Given the description of an element on the screen output the (x, y) to click on. 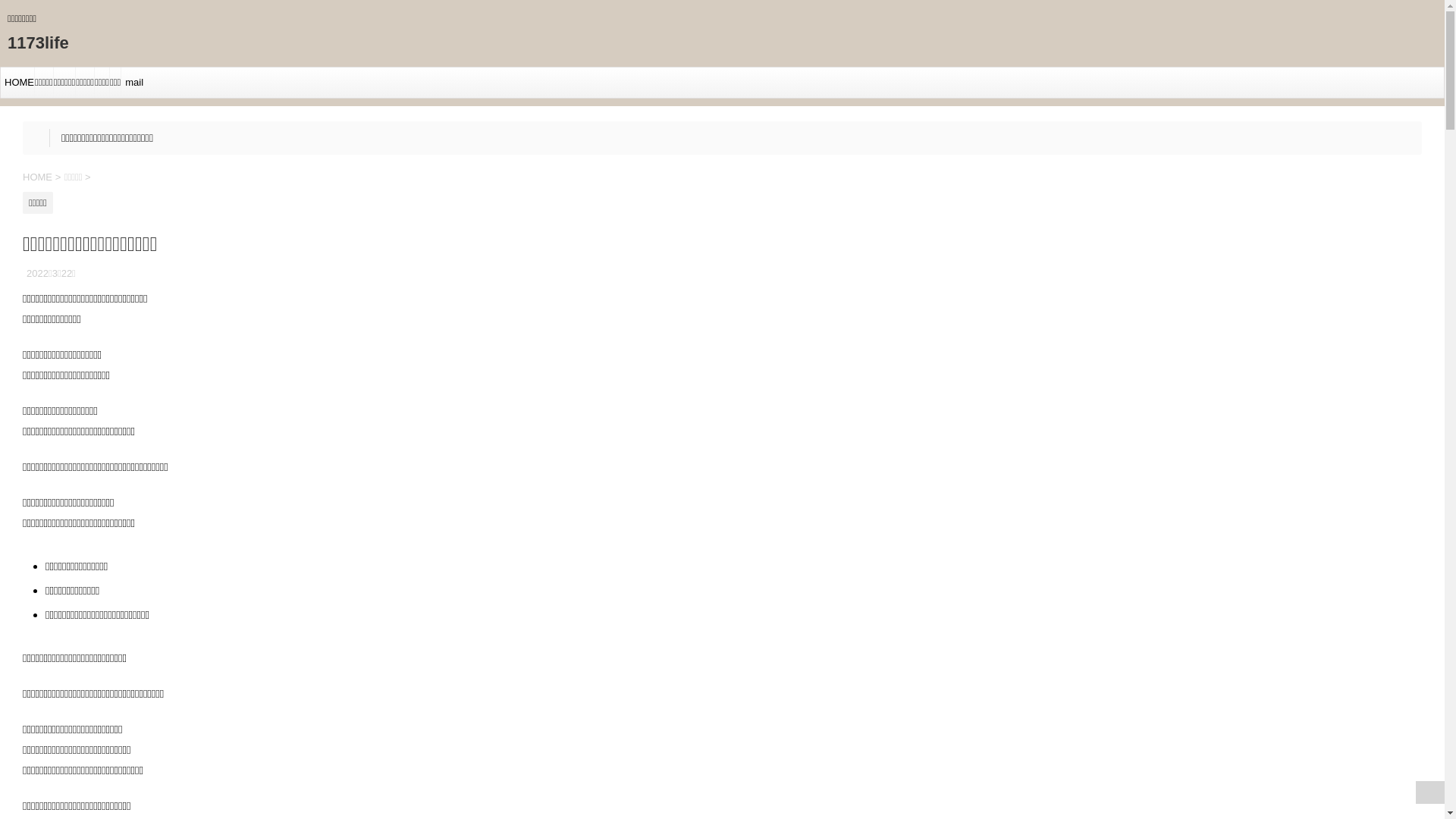
mail Element type: text (132, 81)
1173life Element type: text (38, 42)
HOME Element type: text (17, 81)
HOME Element type: text (38, 176)
